Given the description of an element on the screen output the (x, y) to click on. 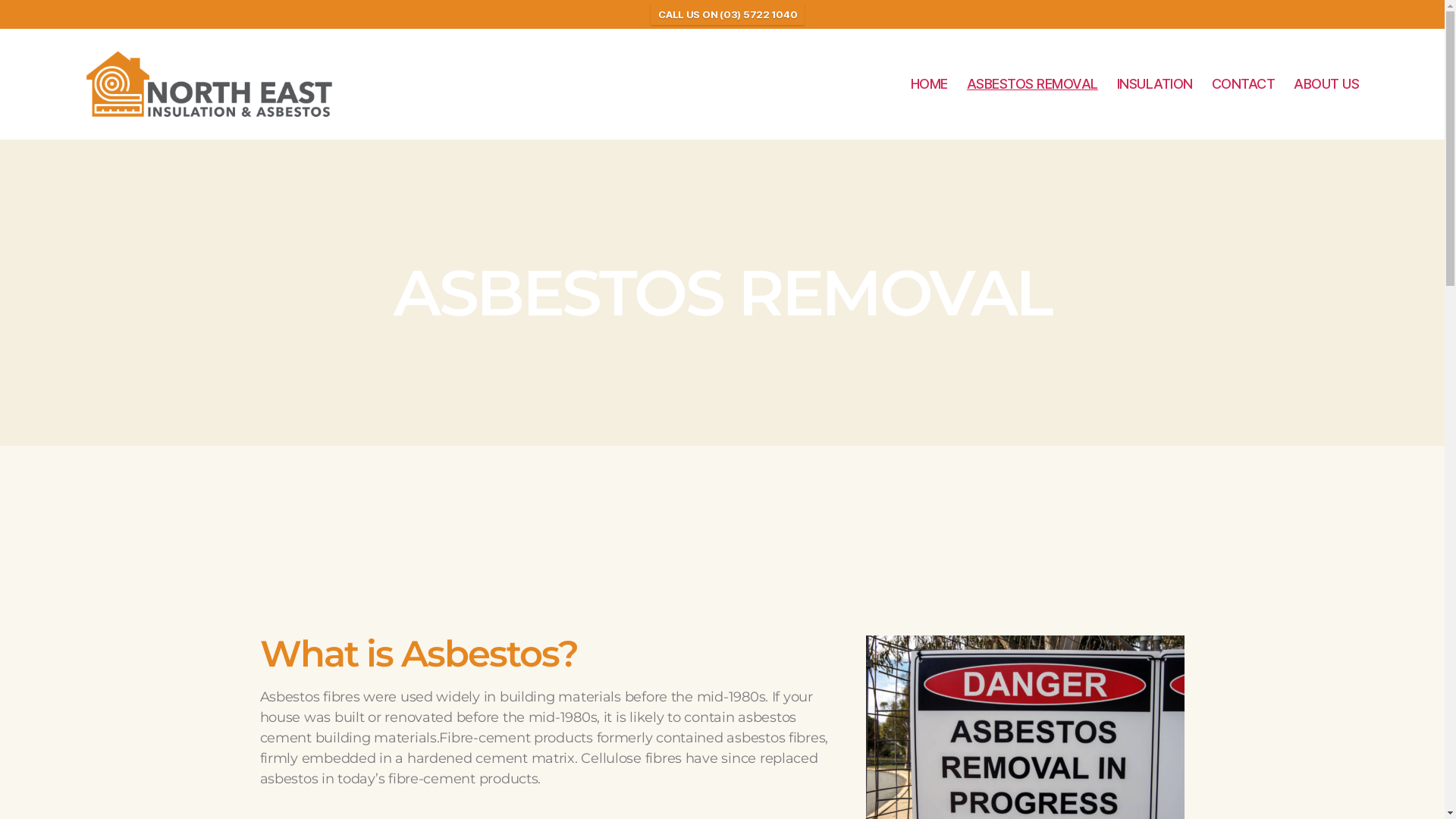
CALL US ON (03) 5722 1040 Element type: text (727, 14)
CONTACT Element type: text (1243, 83)
ABOUT US Element type: text (1325, 83)
ASBESTOS REMOVAL Element type: text (1032, 83)
HOME Element type: text (928, 83)
INSULATION Element type: text (1154, 83)
